Given the description of an element on the screen output the (x, y) to click on. 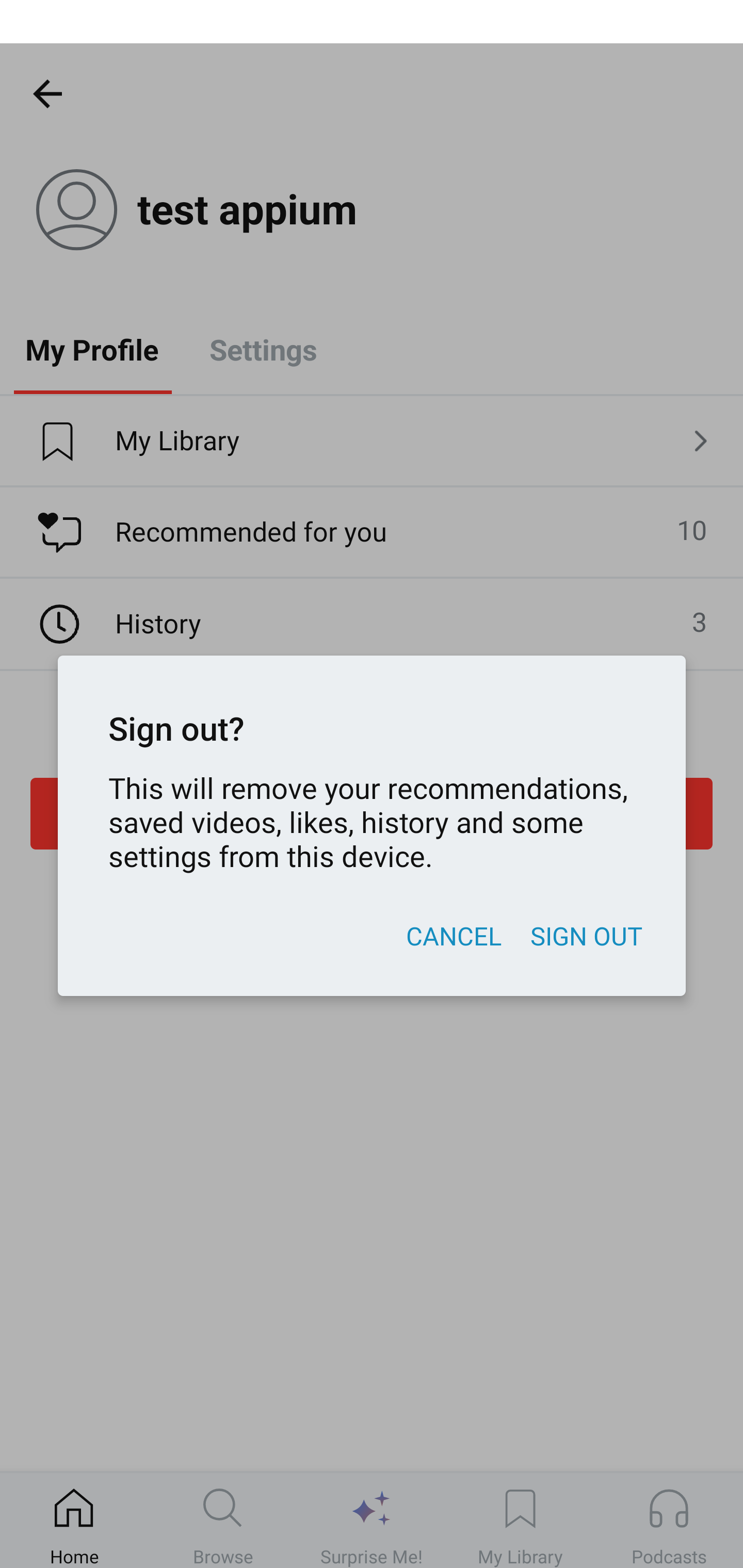
CANCEL (453, 935)
SIGN OUT (585, 935)
